Given the description of an element on the screen output the (x, y) to click on. 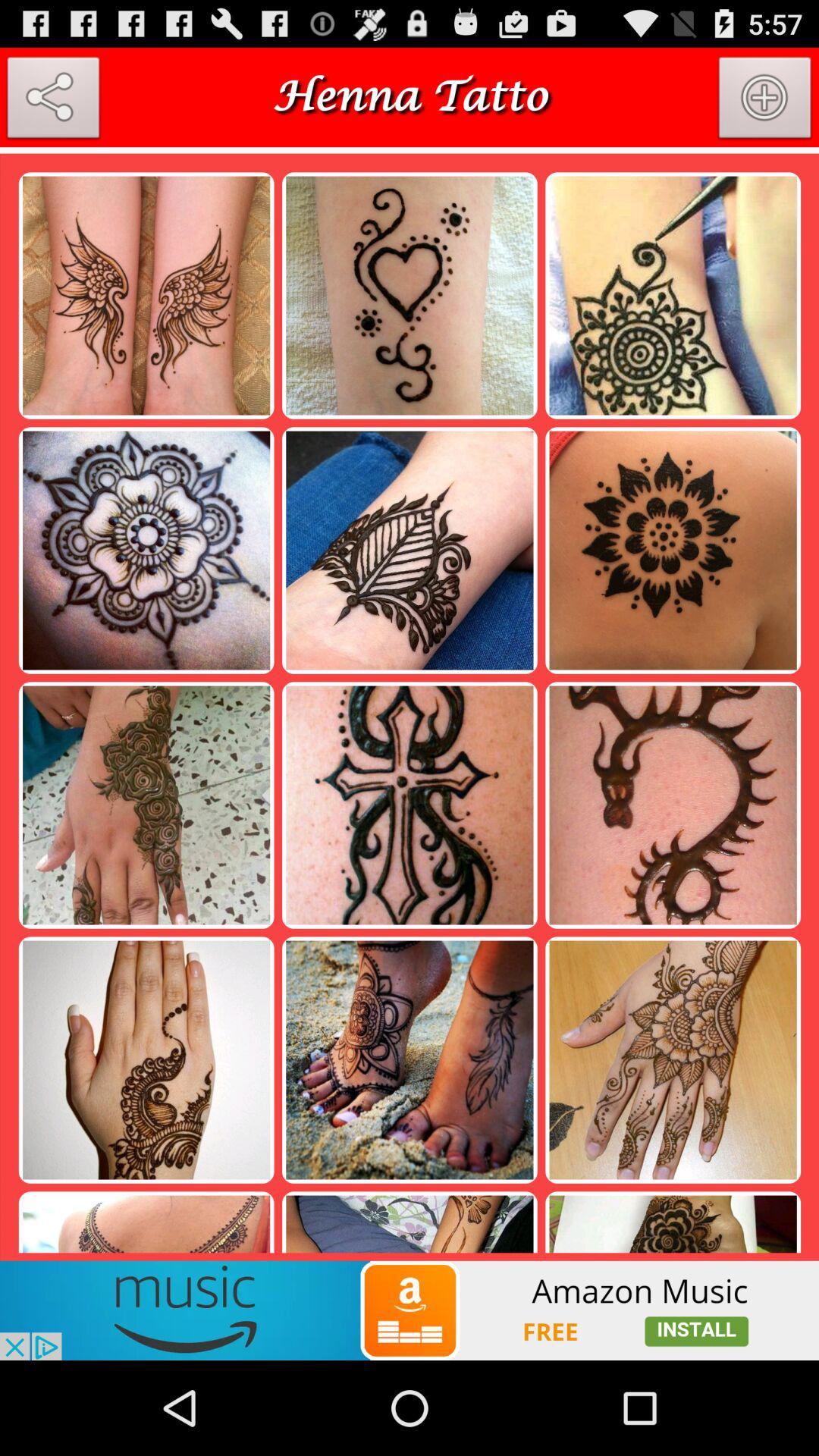
split bar (409, 150)
